Given the description of an element on the screen output the (x, y) to click on. 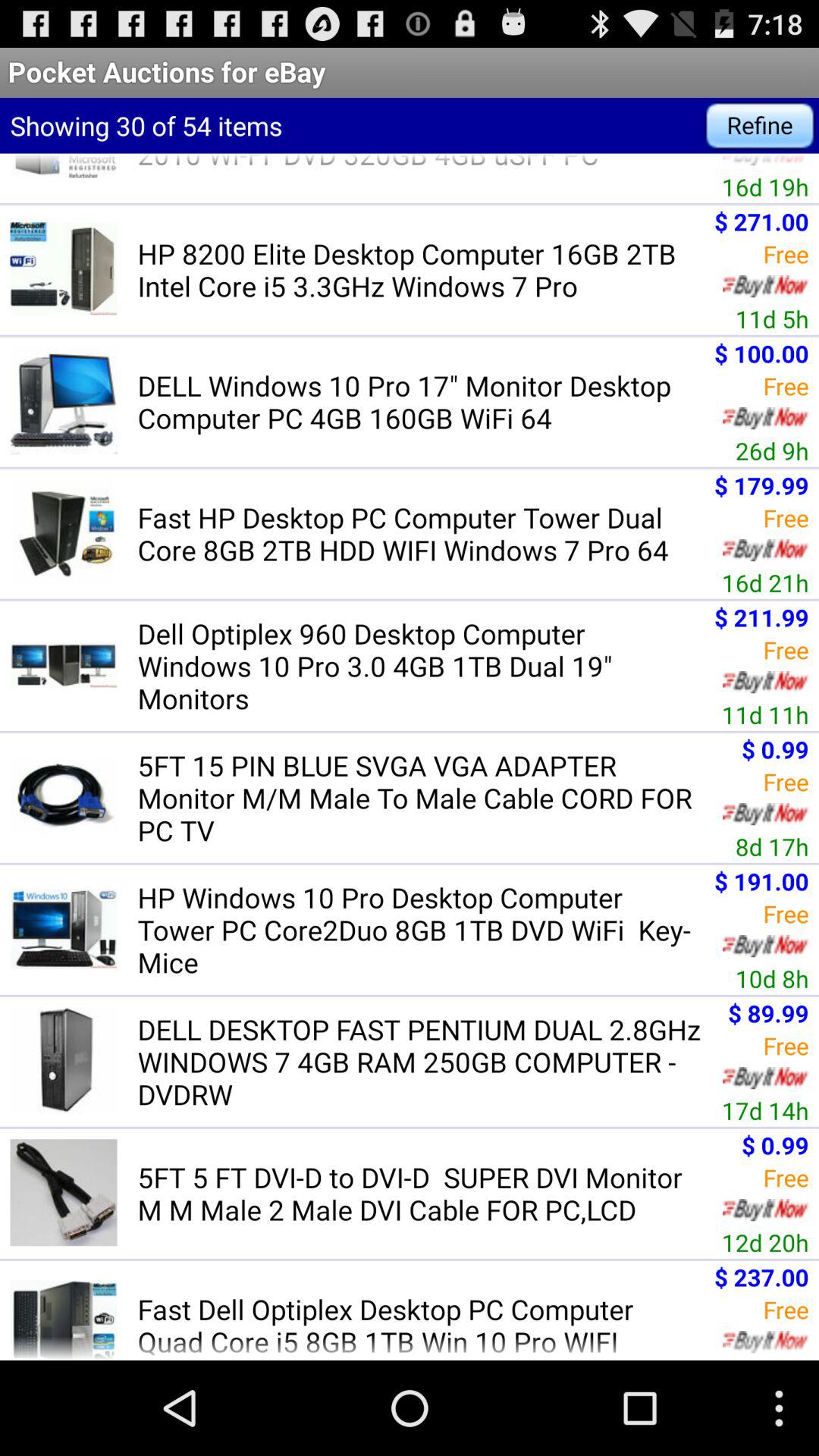
flip until the 5ft 5 ft (424, 1193)
